Given the description of an element on the screen output the (x, y) to click on. 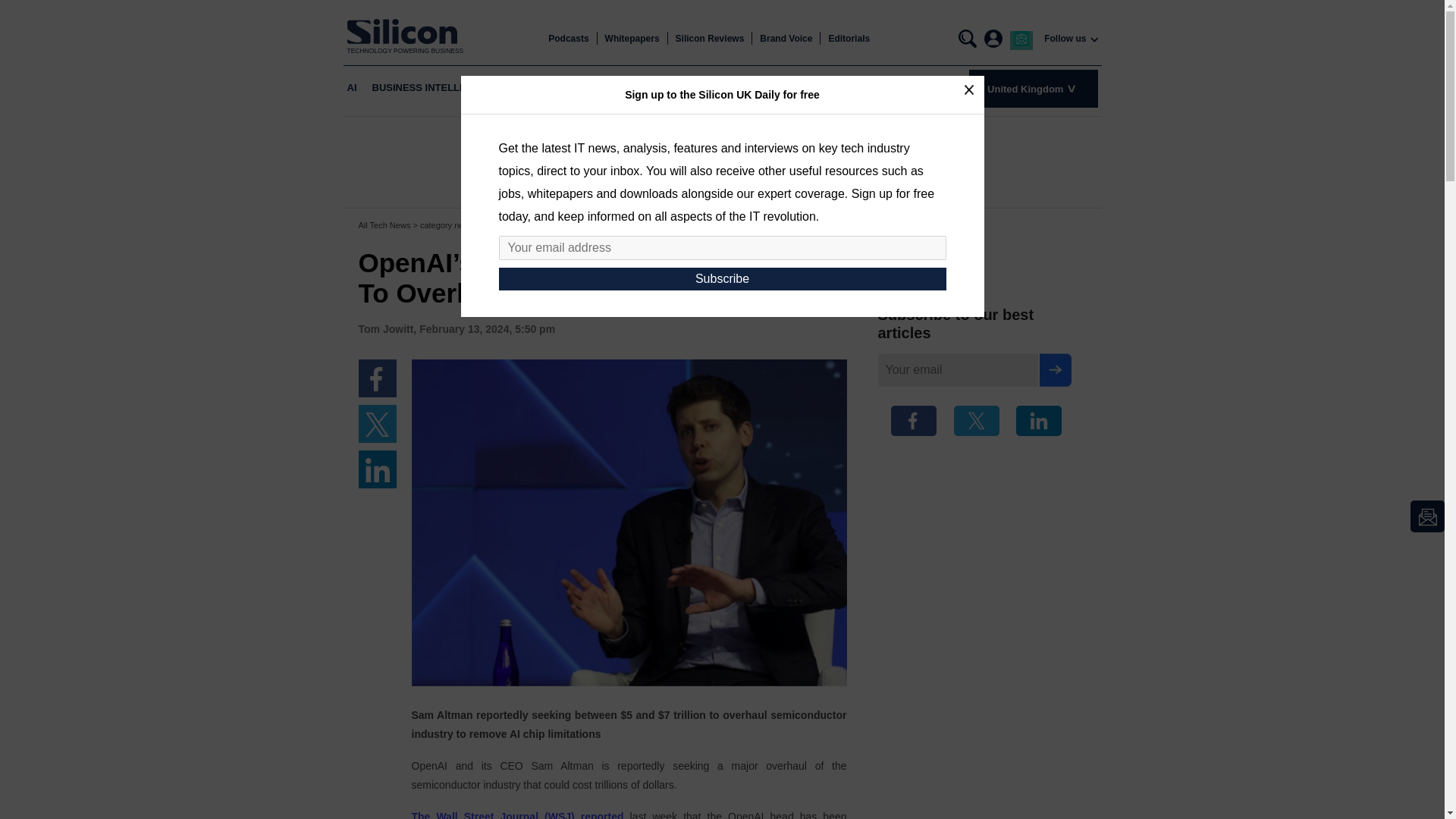
DATA (724, 87)
Whitepapers (632, 38)
Editorials (848, 38)
Podcasts (568, 38)
Brand Voice (786, 38)
Silicon Reviews (709, 38)
CLOUD (529, 87)
Follow us (1064, 38)
United Kingdom (1033, 88)
Silicon UK (405, 31)
